Given the description of an element on the screen output the (x, y) to click on. 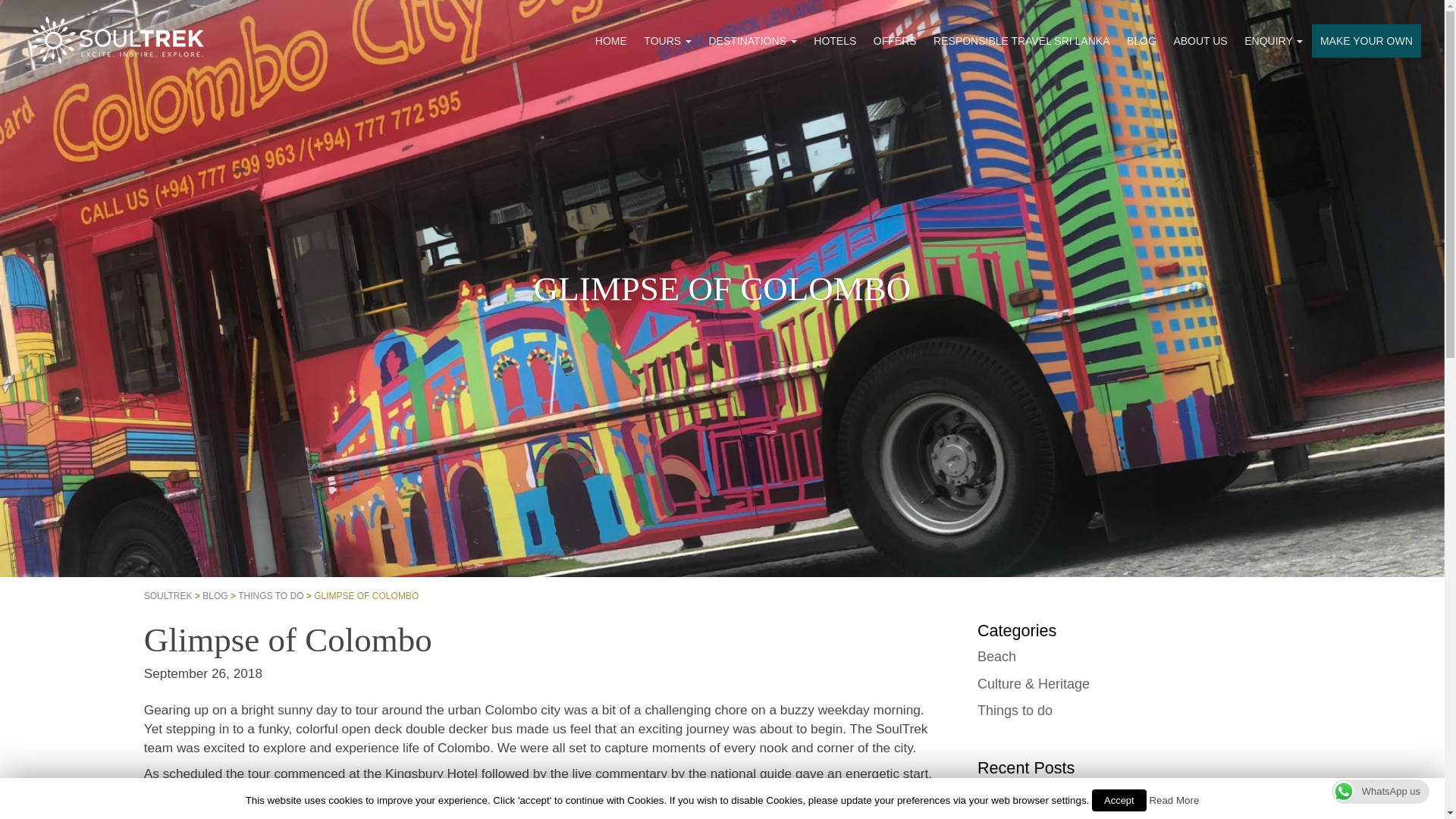
TOURS (667, 40)
Enquiry (1273, 40)
Tours (667, 40)
Hotels (834, 40)
OFFERS (895, 40)
DESTINATIONS (751, 40)
ABOUT US (1200, 40)
THINGS TO DO (270, 595)
SOULTREK (168, 595)
Beach (996, 656)
ENQUIRY (1273, 40)
About Us (1200, 40)
HOME (611, 40)
RESPONSIBLE TRAVEL SRI LANKA (1021, 40)
Things to do in the East Coast this Summer (1200, 798)
